Given the description of an element on the screen output the (x, y) to click on. 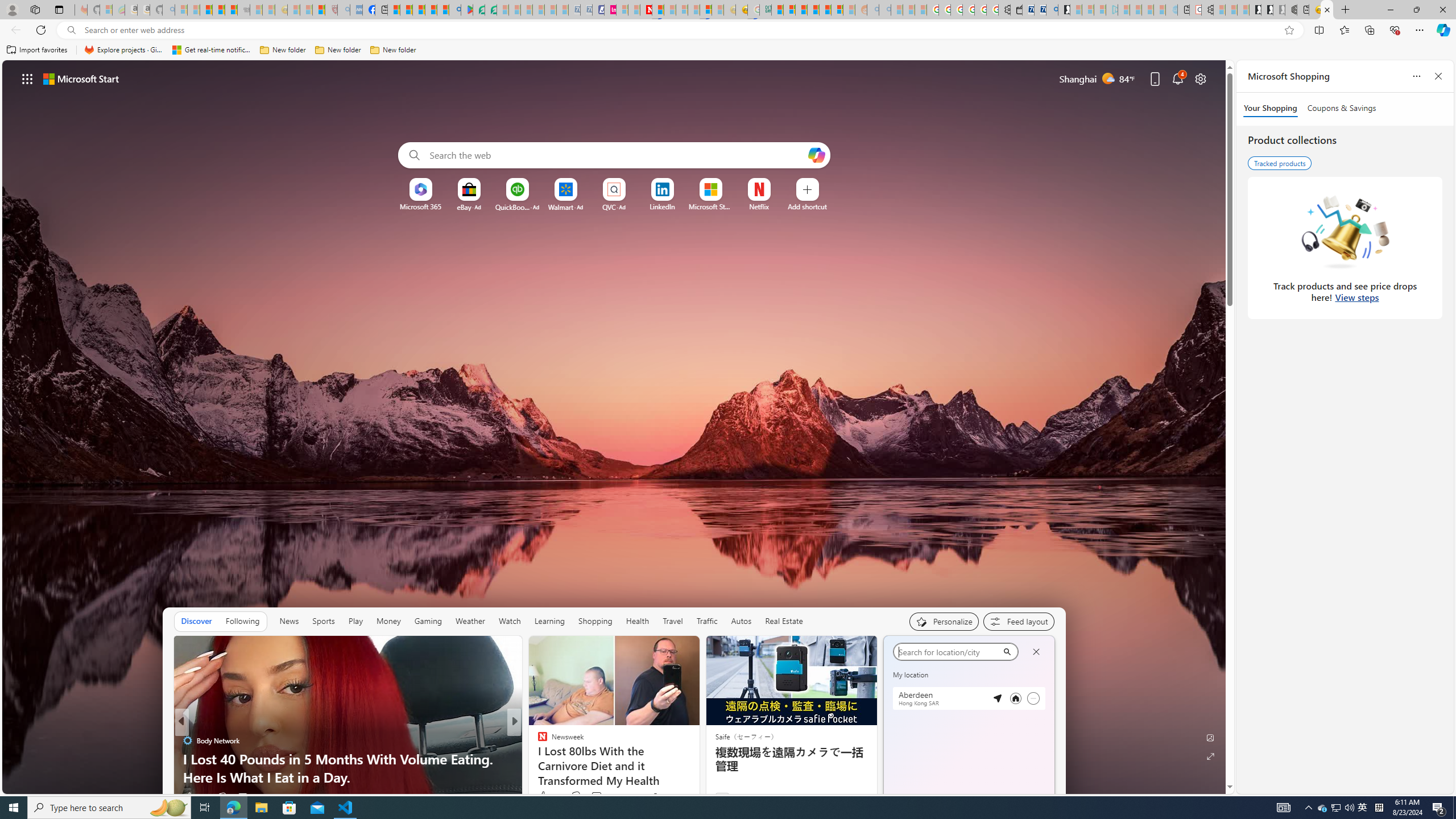
57 Like (543, 796)
Health (637, 621)
Body Network (537, 740)
21 Like (543, 796)
Detected location (997, 698)
